Given the description of an element on the screen output the (x, y) to click on. 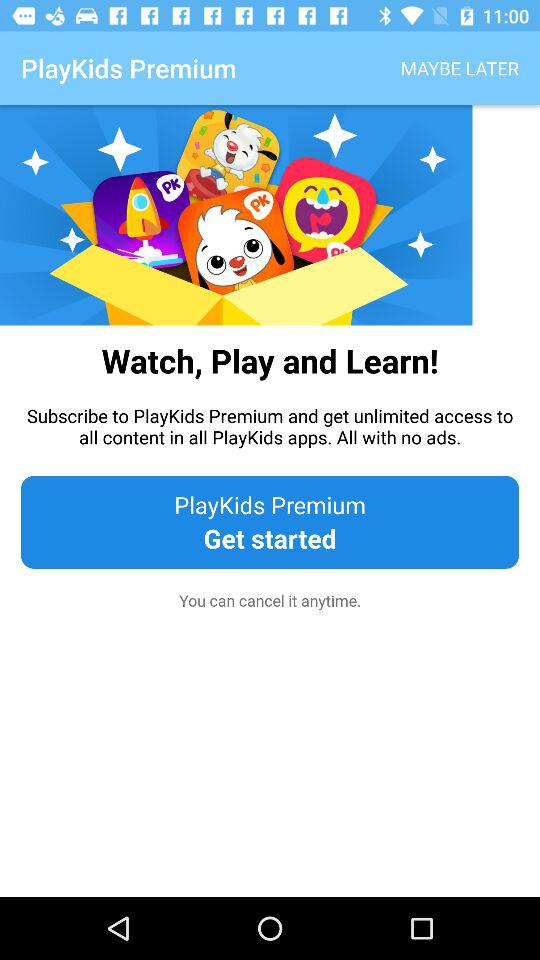
open item next to the playkids premium (459, 67)
